Given the description of an element on the screen output the (x, y) to click on. 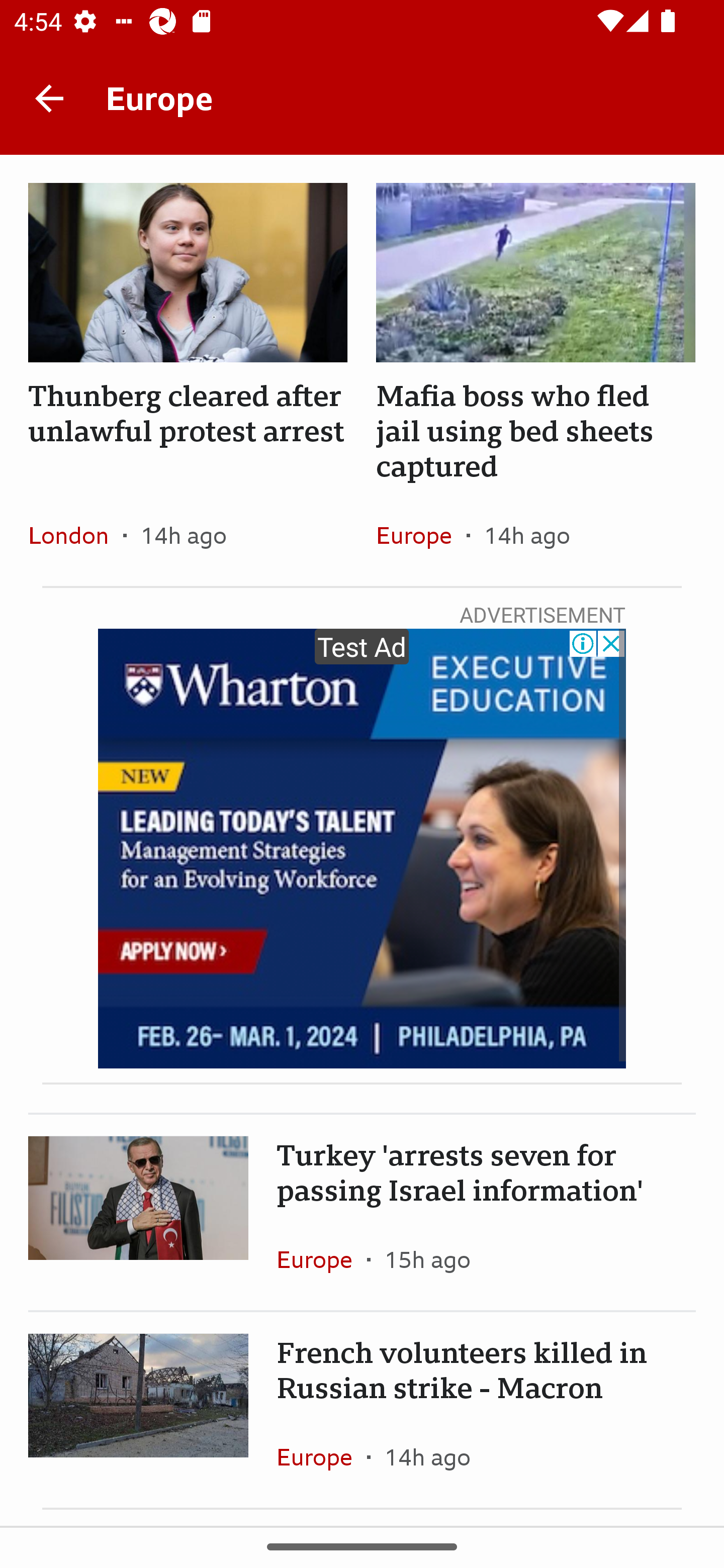
Back (49, 97)
London In the section London (75, 535)
Europe In the section Europe (420, 535)
Advertisement (361, 848)
Europe In the section Europe (321, 1259)
Europe In the section Europe (321, 1457)
